Given the description of an element on the screen output the (x, y) to click on. 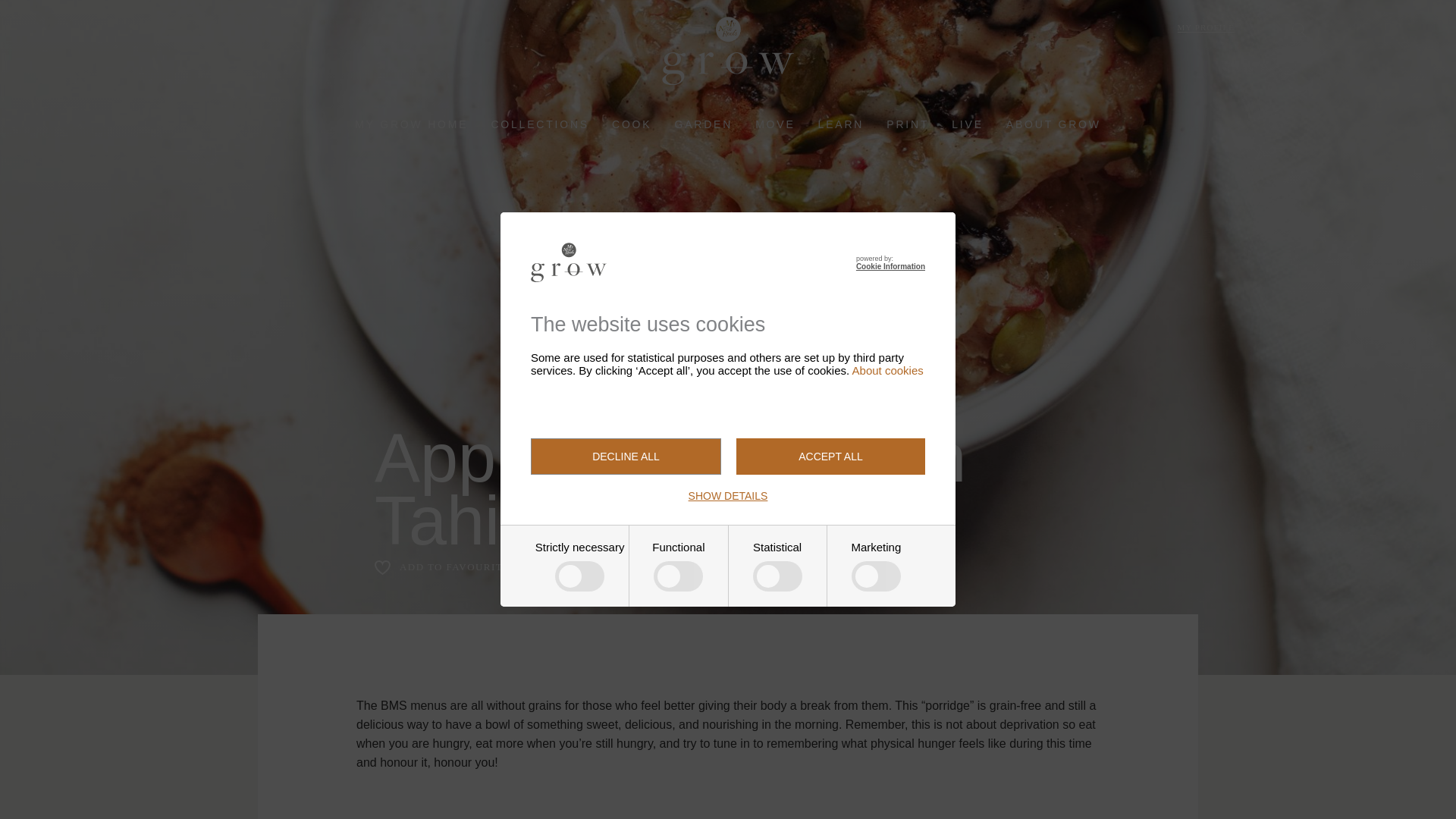
ACCEPT ALL (830, 456)
DECLINE ALL (625, 456)
Cookie Information (890, 266)
About cookies (887, 369)
SHOW DETAILS (728, 495)
